Given the description of an element on the screen output the (x, y) to click on. 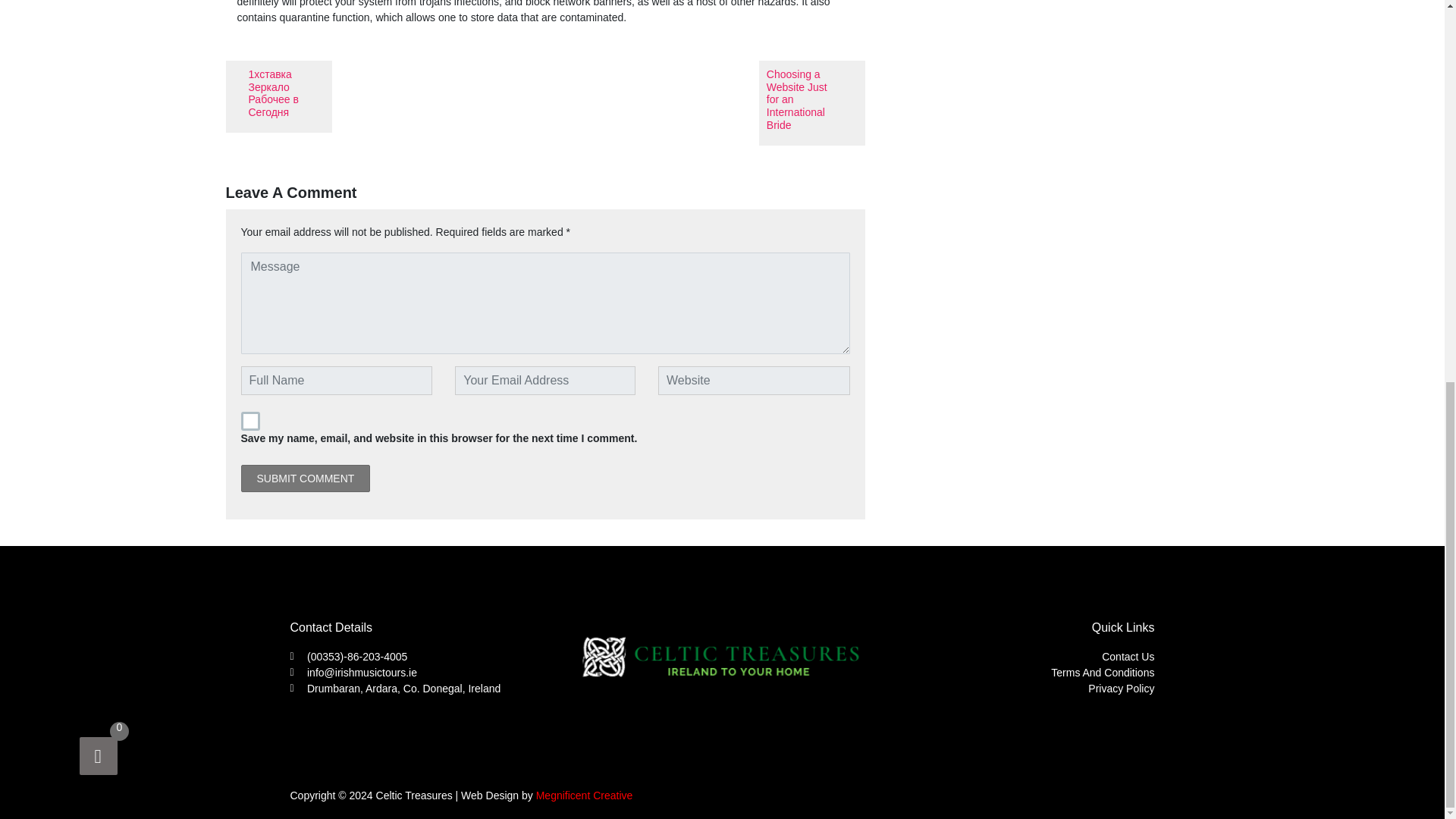
Megnificent Creative (584, 795)
Drumbaran, Ardara, Co. Donegal, Ireland (433, 688)
SUBMIT COMMENT (306, 478)
Choosing a Website Just for an International Bride (811, 102)
yes (250, 420)
Terms And Conditions (1010, 672)
Contact Us (1010, 657)
Privacy Policy (1010, 688)
SUBMIT COMMENT (306, 478)
